Given the description of an element on the screen output the (x, y) to click on. 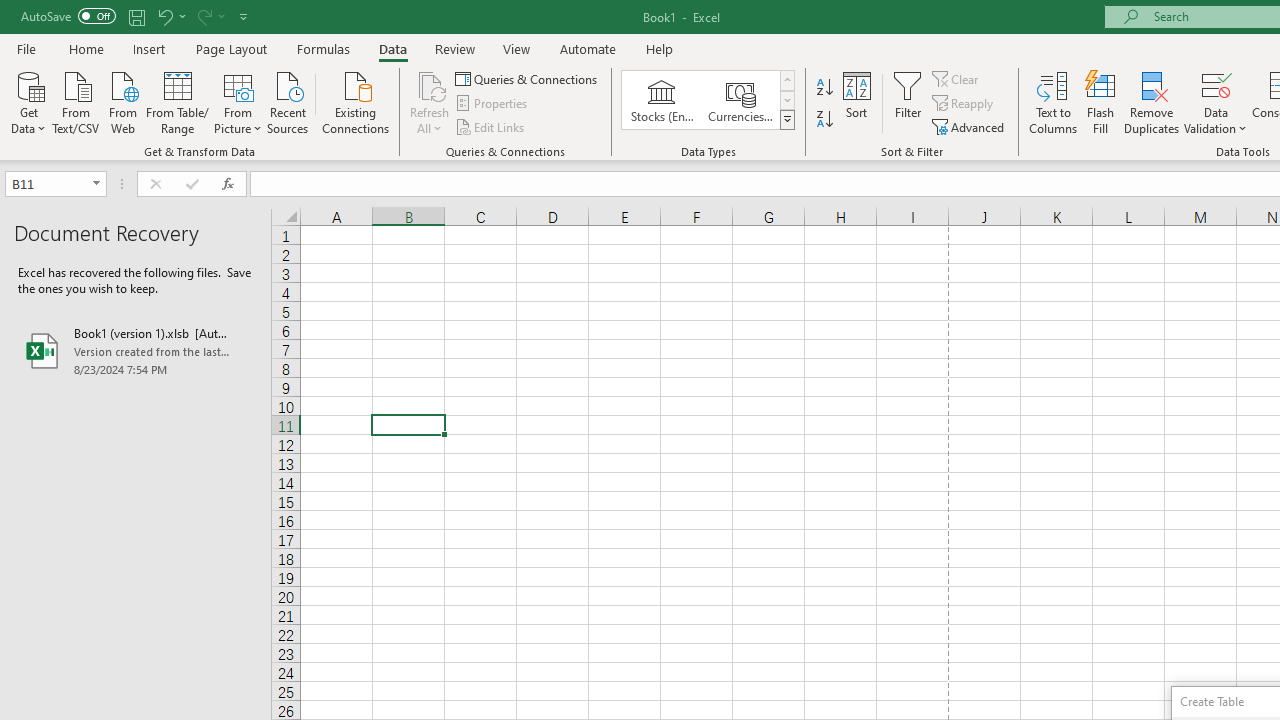
Class: NetUIImage (787, 119)
View (517, 48)
Home (86, 48)
Insert (149, 48)
More Options (1215, 121)
From Text/CSV (75, 101)
Data Validation... (1215, 84)
From Table/Range (177, 101)
Save (136, 15)
Undo (170, 15)
Refresh All (429, 84)
Existing Connections (355, 101)
Reapply (964, 103)
Name Box (46, 183)
From Web (122, 101)
